Given the description of an element on the screen output the (x, y) to click on. 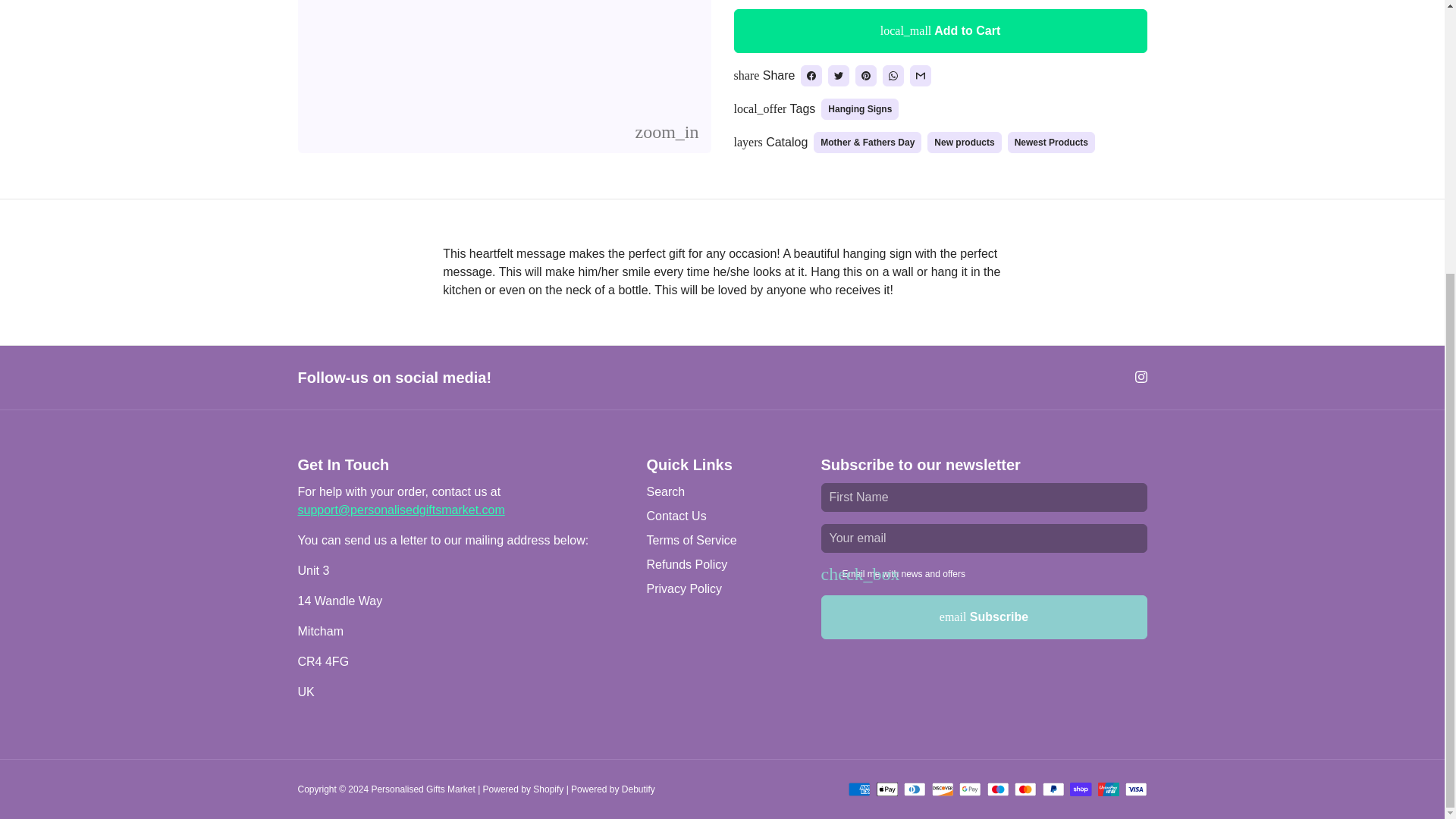
Maestro (998, 789)
Diners Club (915, 789)
Apple Pay (887, 789)
PayPal (1052, 789)
Mastercard (1025, 789)
Discover (941, 789)
American Express (859, 789)
Google Pay (970, 789)
